Given the description of an element on the screen output the (x, y) to click on. 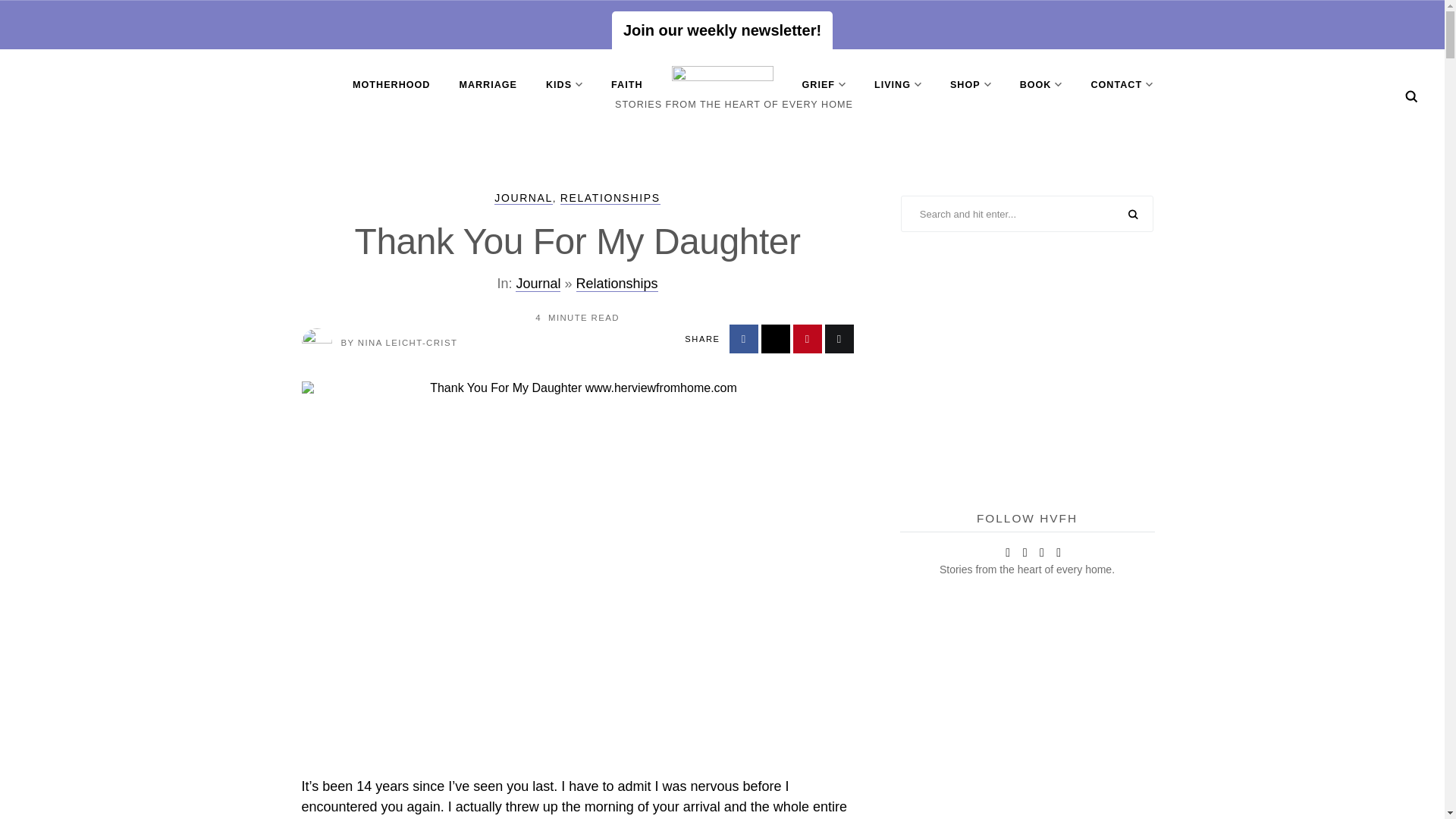
SEARCH (1133, 214)
Search (1411, 96)
Share on X (775, 338)
Share on Facebook (743, 338)
Share on Pinterest (807, 338)
Share by Email (839, 338)
